Given the description of an element on the screen output the (x, y) to click on. 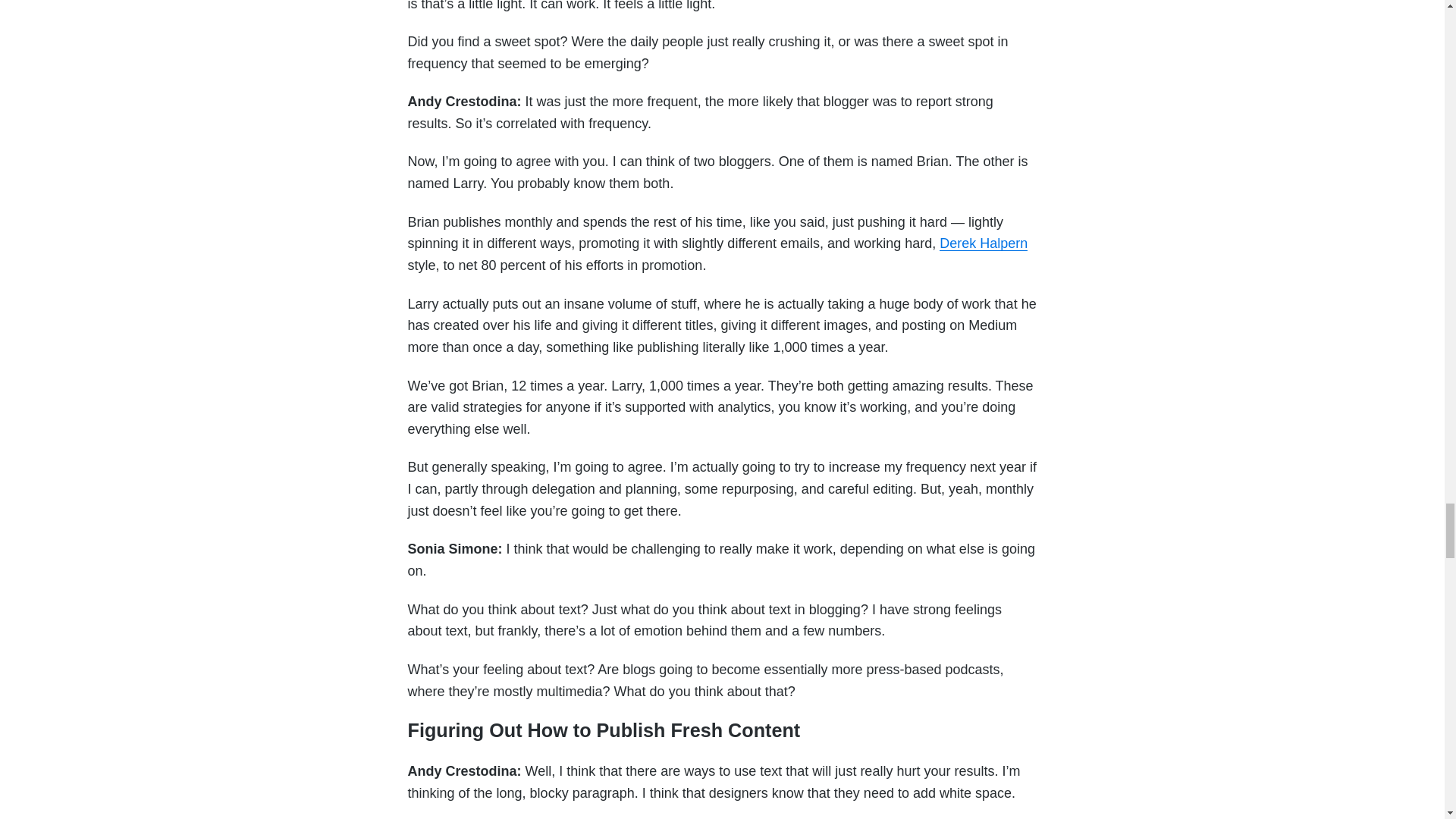
Derek Halpern (983, 242)
